Given the description of an element on the screen output the (x, y) to click on. 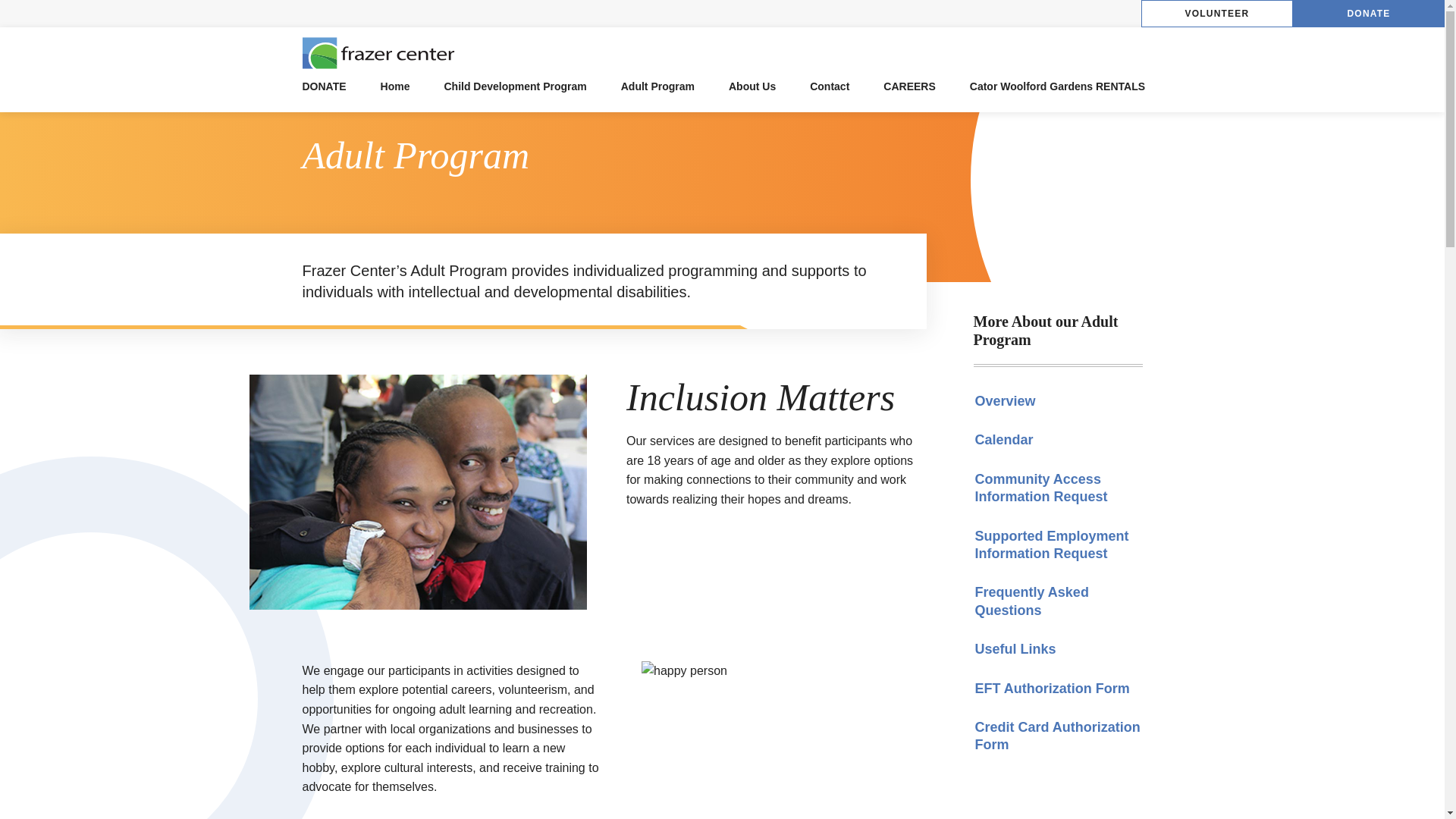
About Us (752, 86)
VOLUNTEER (1216, 13)
Child Development Program (515, 86)
Adult Program (657, 86)
